Given the description of an element on the screen output the (x, y) to click on. 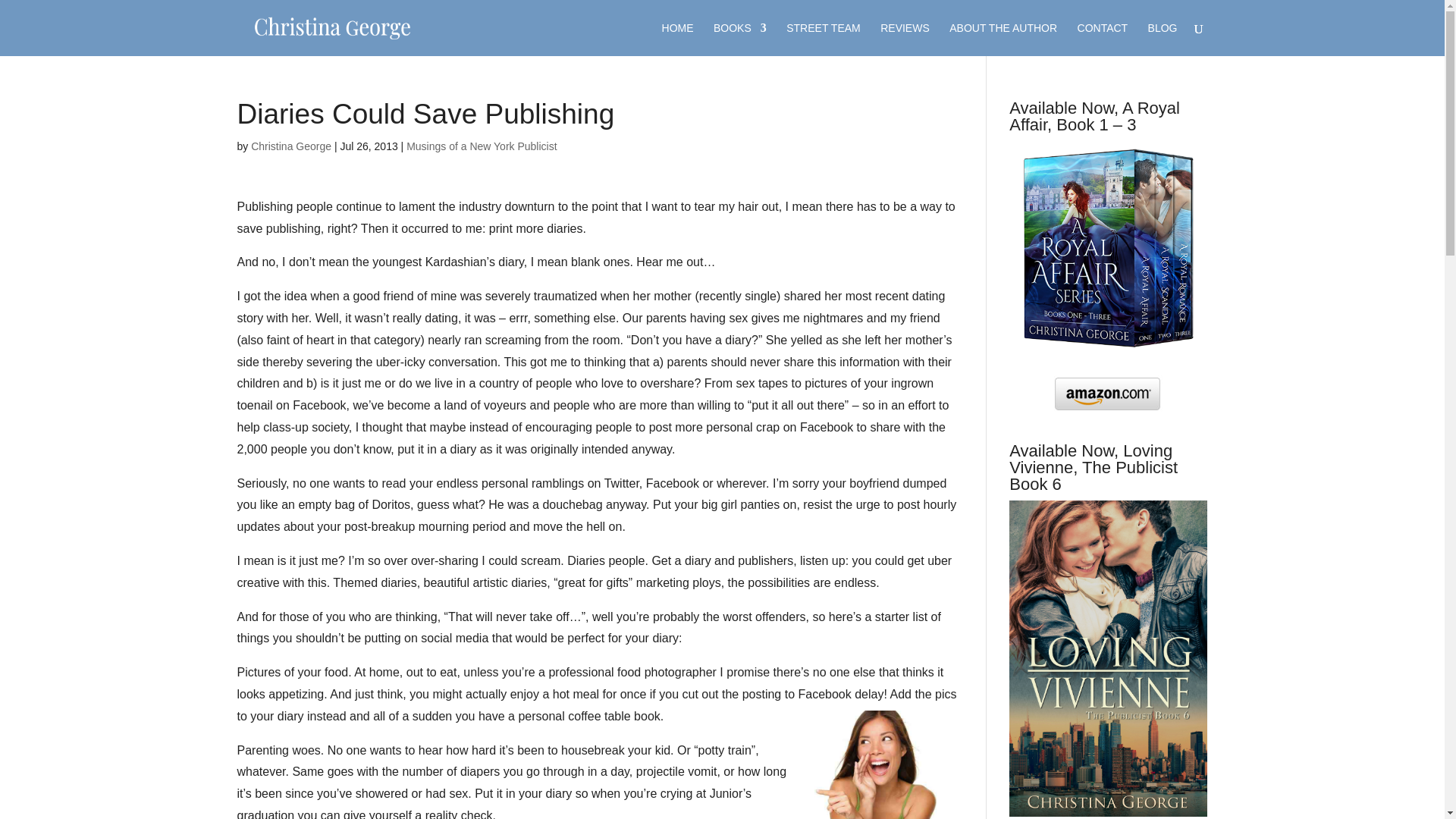
REVIEWS (905, 39)
Musings of a New York Publicist (481, 146)
ABOUT THE AUTHOR (1003, 39)
BOOKS (740, 39)
CONTACT (1102, 39)
Posts by Christina George (290, 146)
Christina George (290, 146)
STREET TEAM (823, 39)
HOME (678, 39)
